Given the description of an element on the screen output the (x, y) to click on. 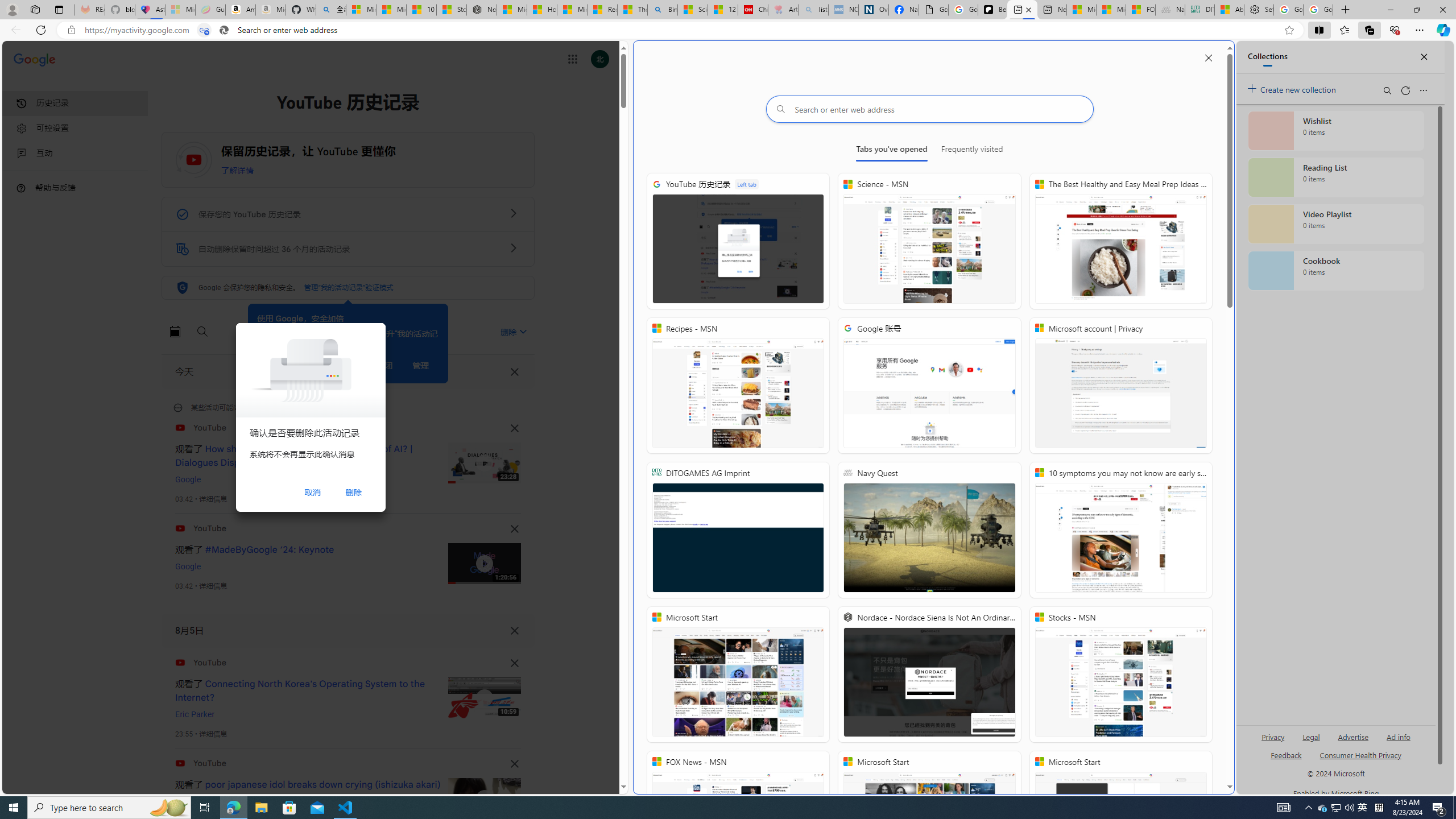
AutomationID: sb_feedback (1286, 754)
